Given the description of an element on the screen output the (x, y) to click on. 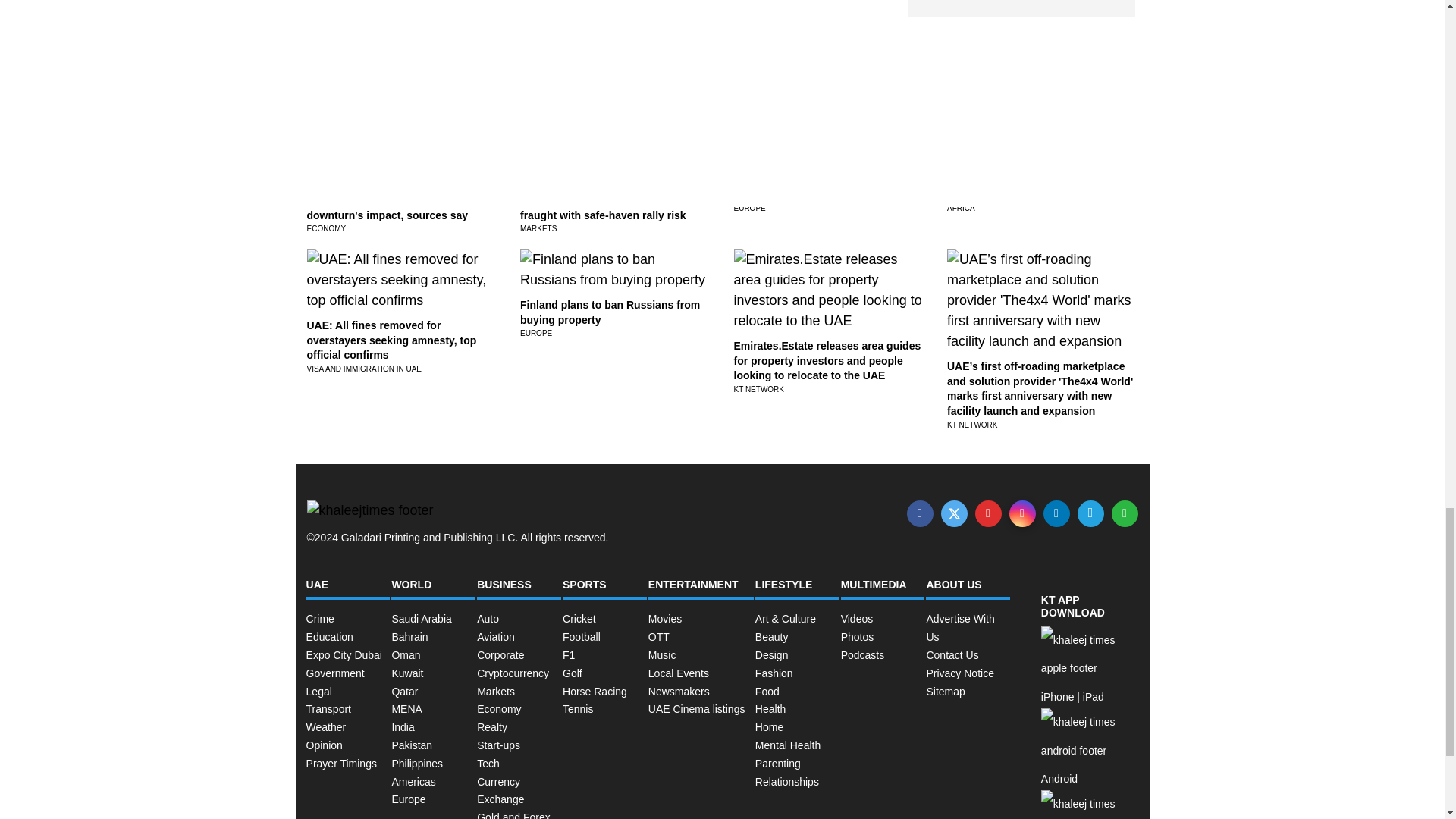
Nigeria charges protesters with treason, inciting military (1026, 186)
ECB policymakers at odds over downturn's impact, sources say (386, 207)
No TV or screens for toddlers, Sweden tells parents (809, 186)
Finland plans to ban Russians from buying property (609, 311)
